Given the description of an element on the screen output the (x, y) to click on. 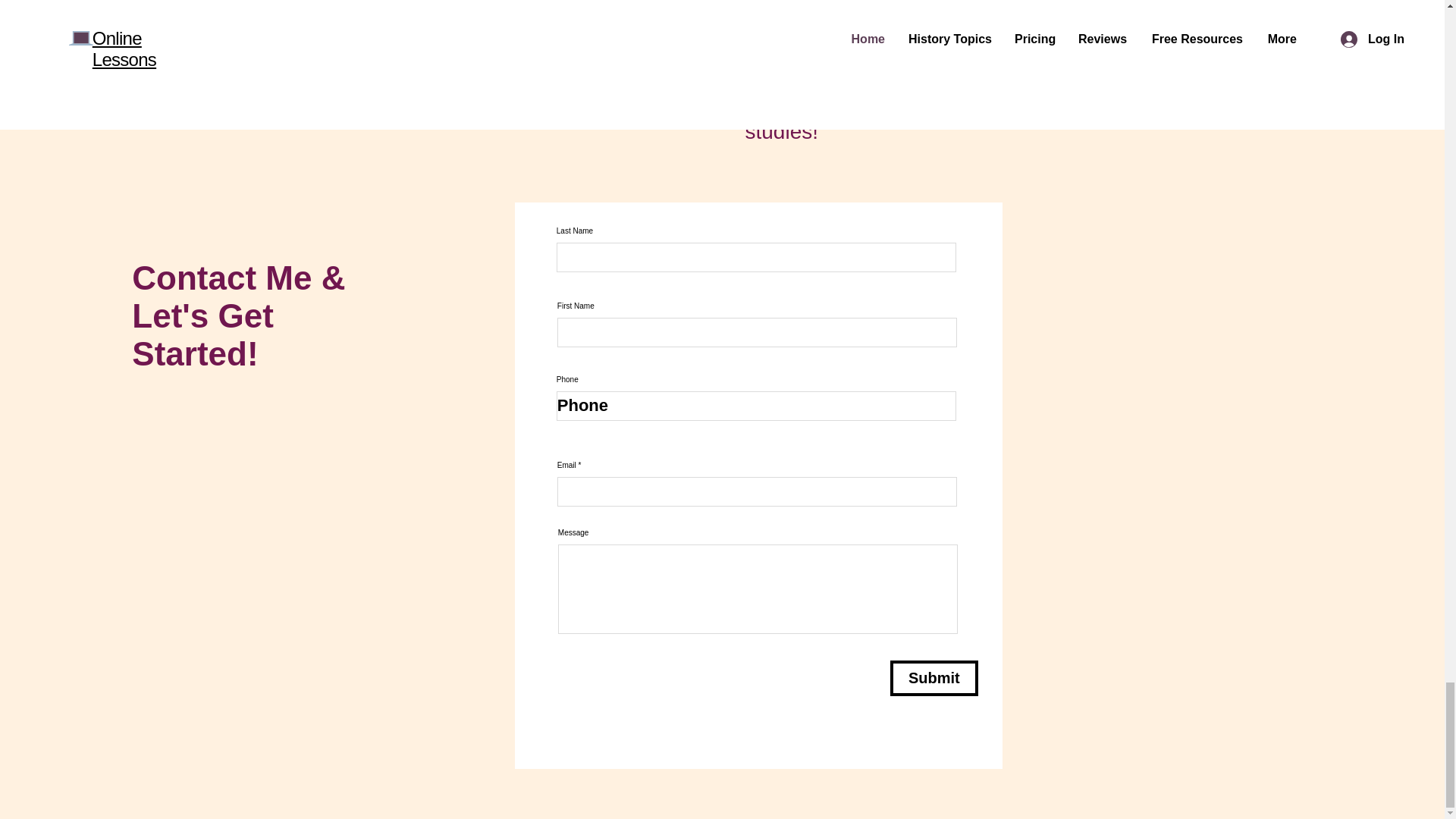
Submit (933, 678)
